Given the description of an element on the screen output the (x, y) to click on. 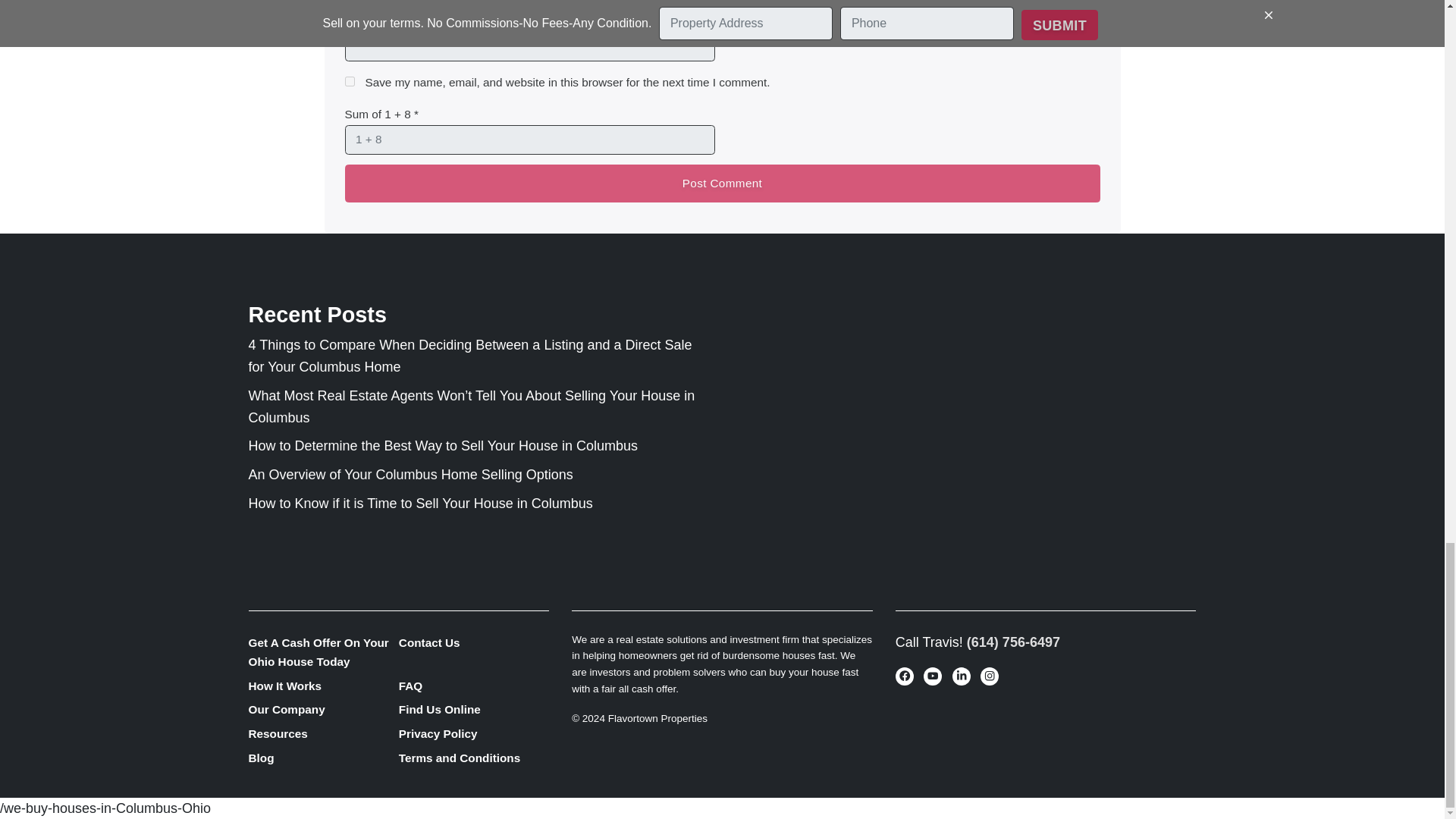
yes (348, 81)
Post Comment (721, 183)
An Overview of Your Columbus Home Selling Options (410, 474)
Contact Us (473, 643)
Get A Cash Offer On Your Ohio House Today (323, 652)
How It Works (323, 686)
How to Know if it is Time to Sell Your House in Columbus (420, 503)
Post Comment (721, 183)
FAQ (473, 686)
